Given the description of an element on the screen output the (x, y) to click on. 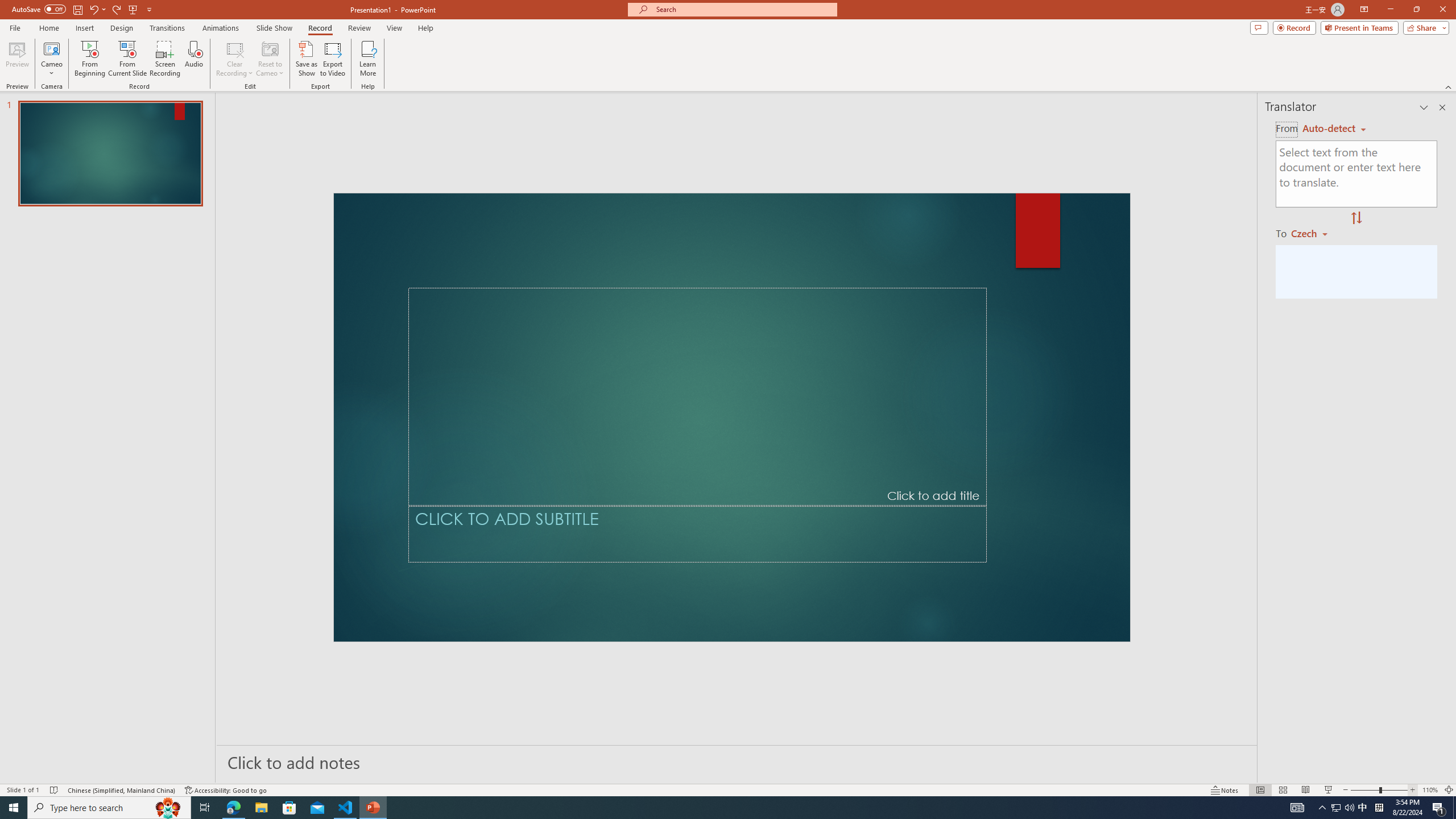
Design (281, 47)
Drawing Canvas (595, 92)
Review (572, 47)
Zoom In (1413, 773)
Column right (1433, 757)
Ink Replay (646, 92)
Line up (1448, 142)
Help (708, 47)
Quick Access Toolbar (133, 18)
Print Layout (1254, 773)
Page 1 content (745, 486)
Word Count 2 words (84, 773)
Pencil: Gray, 1 mm (283, 89)
